Given the description of an element on the screen output the (x, y) to click on. 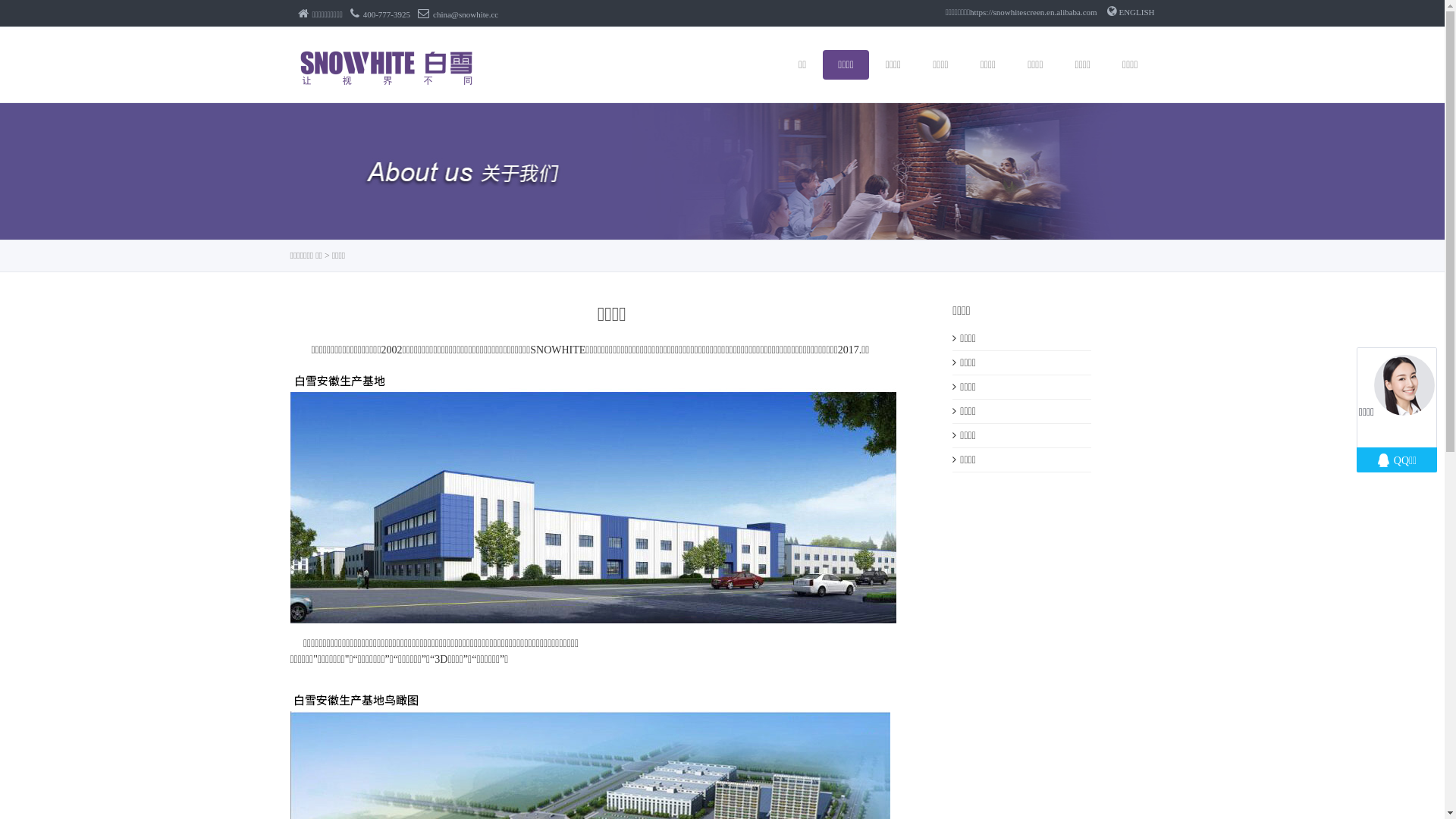
ENGLISH Element type: text (1130, 11)
china@snowhite.cc Element type: text (457, 13)
400-777-3925 Element type: text (380, 13)
